Given the description of an element on the screen output the (x, y) to click on. 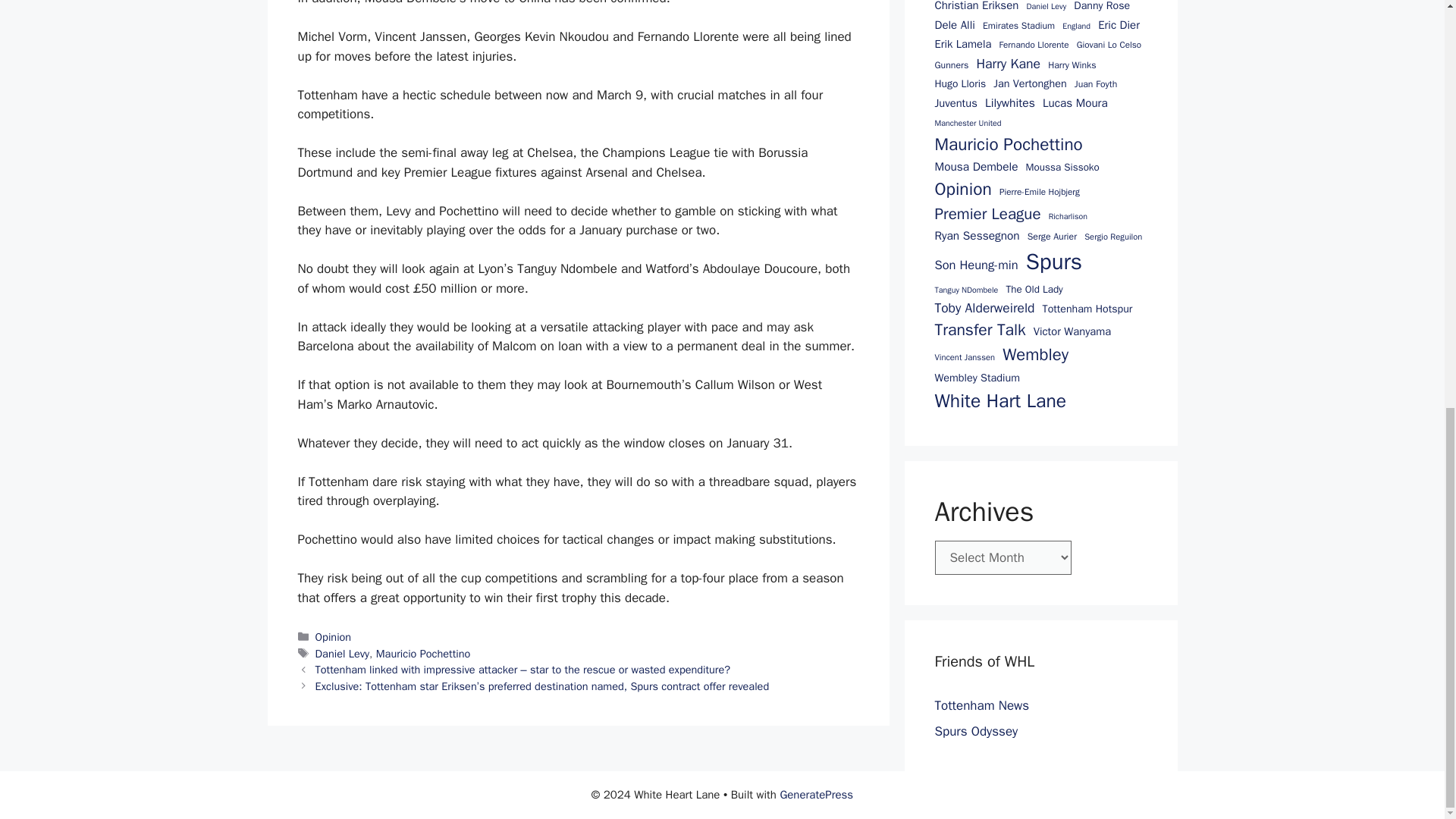
Opinion (333, 636)
Eric Dier (1118, 24)
Hugo Lloris (959, 84)
Gunners (951, 65)
Christian Eriksen (975, 7)
Giovani Lo Celso (1109, 45)
Daniel Levy (342, 653)
Danny Rose (1101, 6)
Harry Kane (1008, 64)
Harry Winks (1072, 65)
